Given the description of an element on the screen output the (x, y) to click on. 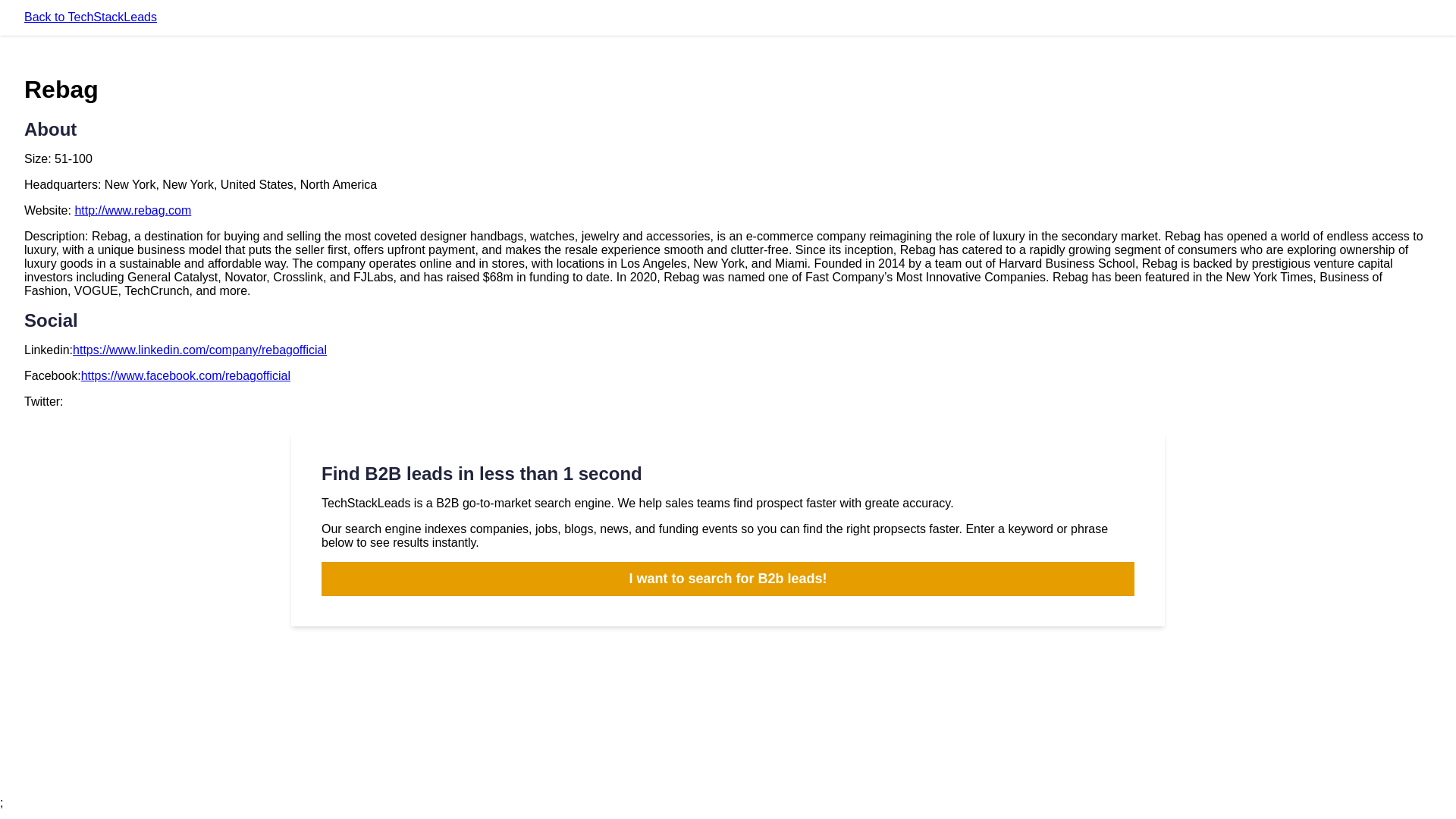
I want to search for B2b leads! (727, 578)
Back to TechStackLeads (90, 16)
I want to search for B2b leads! (727, 578)
